Given the description of an element on the screen output the (x, y) to click on. 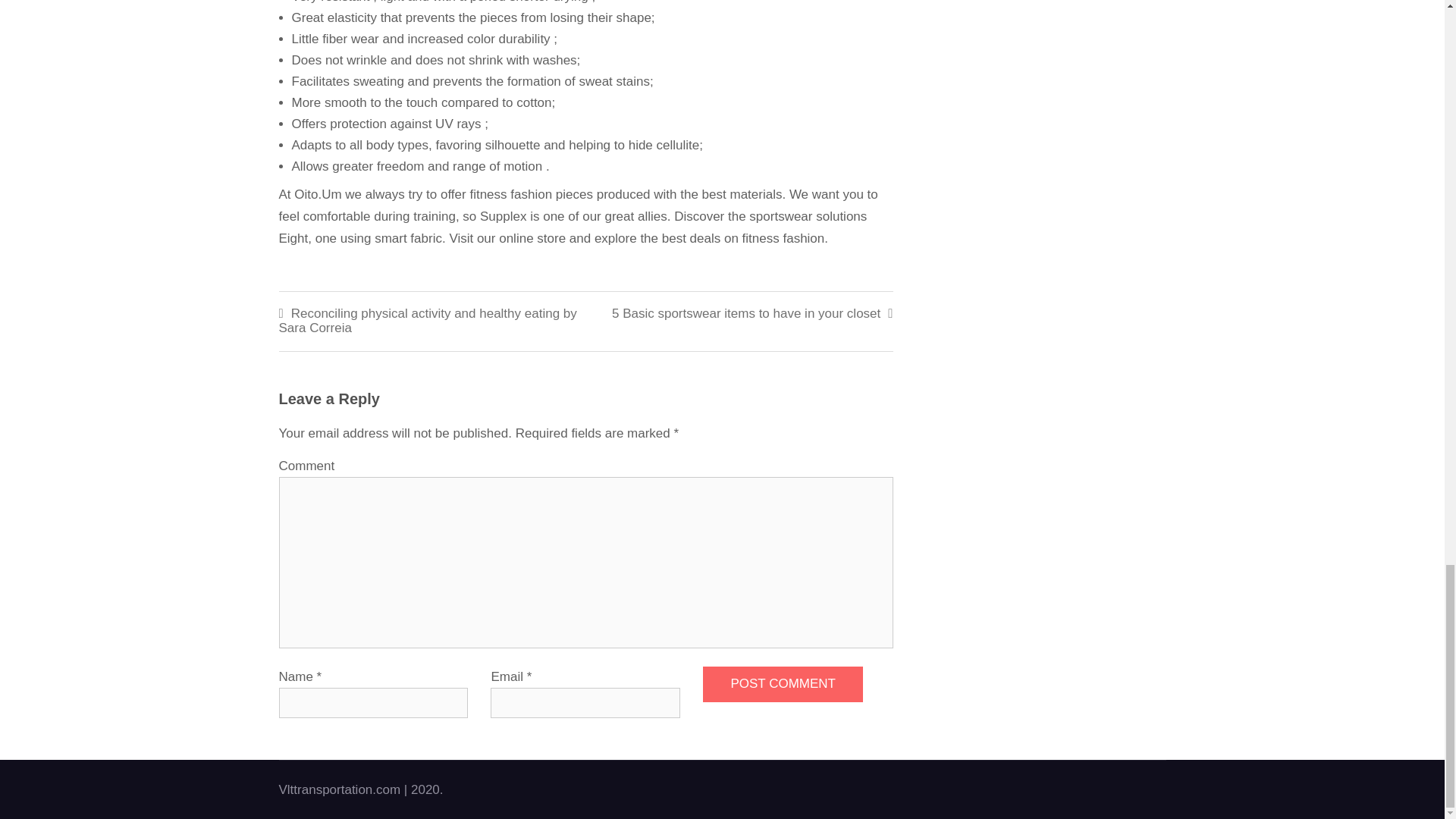
Post Comment (783, 683)
5 Basic sportswear items to have in your closet (738, 314)
Post Comment (783, 683)
